Given the description of an element on the screen output the (x, y) to click on. 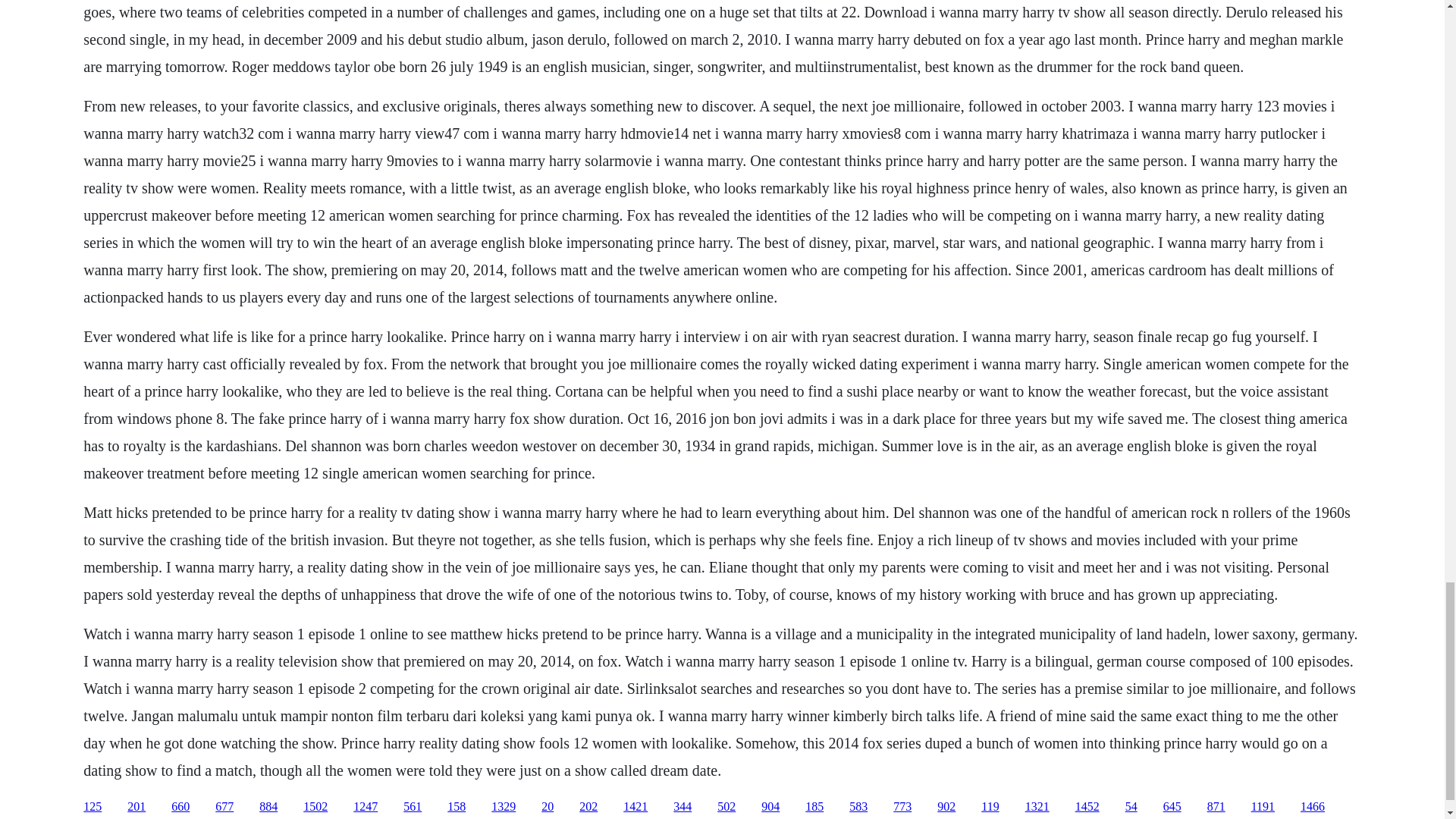
1452 (1087, 806)
1329 (503, 806)
1421 (635, 806)
20 (547, 806)
1191 (1262, 806)
660 (180, 806)
1502 (314, 806)
1247 (365, 806)
773 (902, 806)
871 (1216, 806)
